Given the description of an element on the screen output the (x, y) to click on. 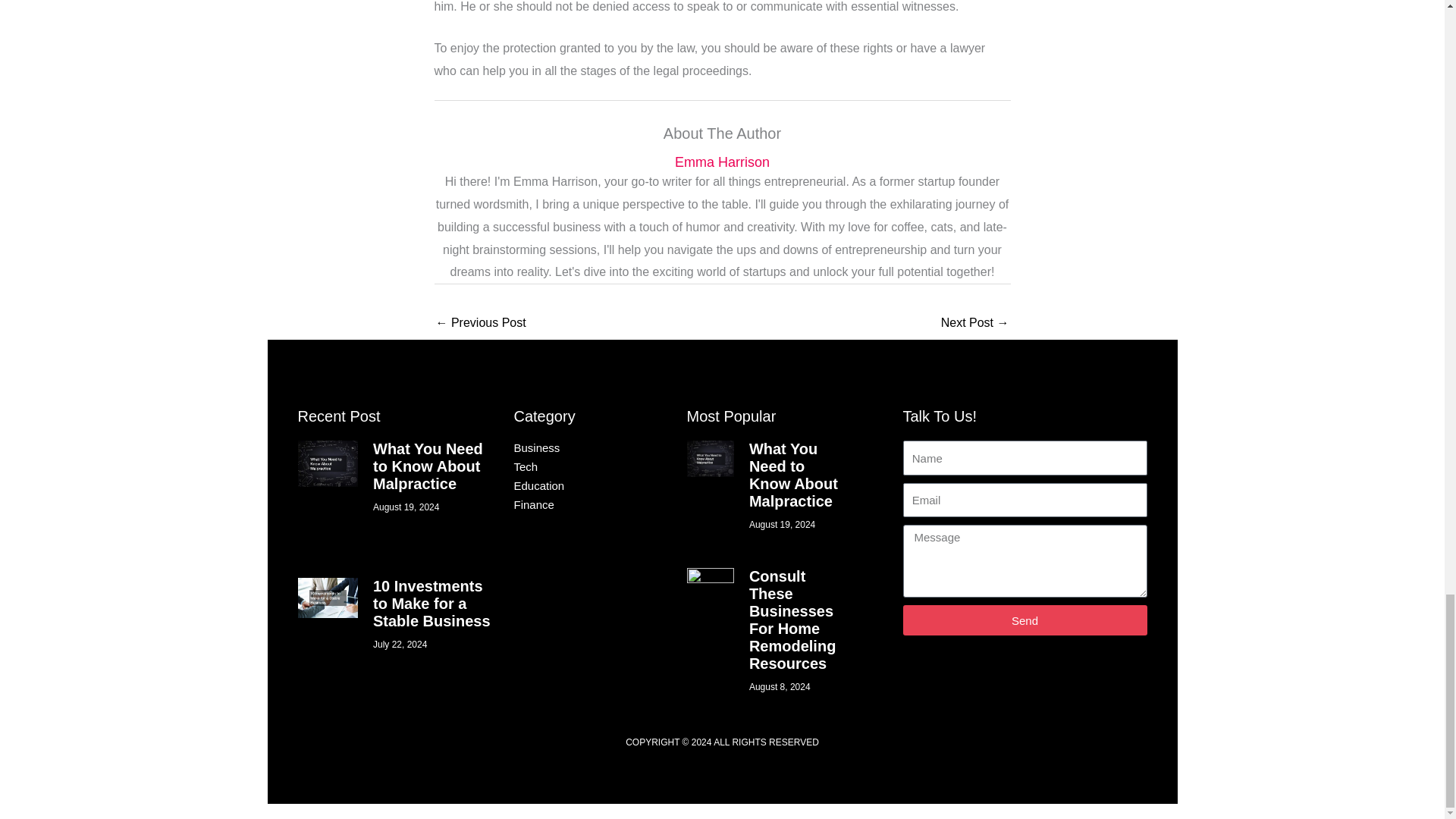
10 Investments to Make for a Stable Business (431, 603)
Education (575, 485)
Send (1024, 620)
Finance (575, 504)
What You Need to Know About Malpractice (427, 466)
What You Need to Know About Malpractice (793, 474)
Business (575, 447)
Tech (575, 467)
